Given the description of an element on the screen output the (x, y) to click on. 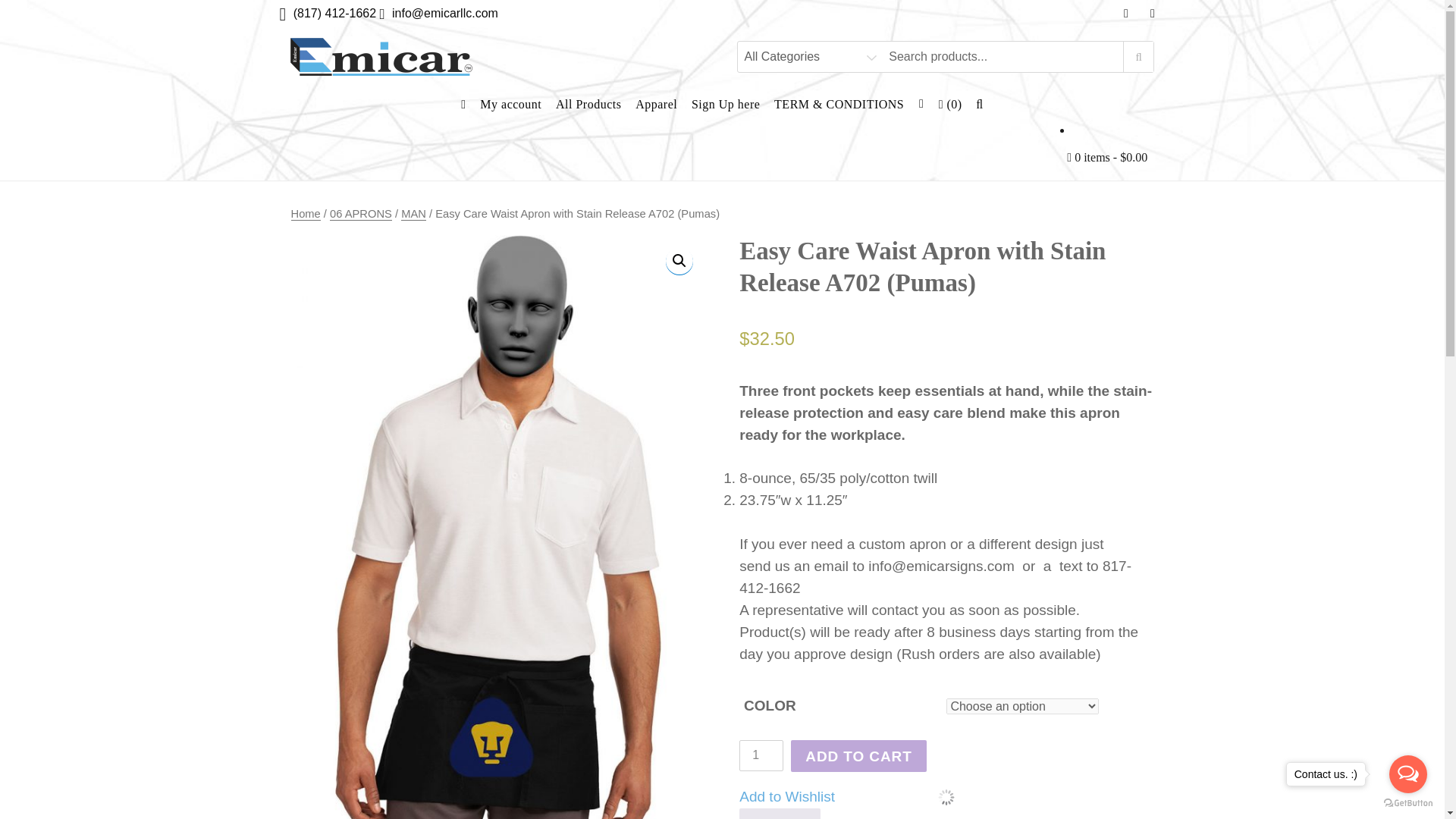
ADD TO CART (858, 756)
Compare (779, 813)
Instagram (1152, 13)
1 (761, 755)
My account (510, 103)
Apparel (656, 103)
MAN (413, 214)
All Products (588, 103)
Start shopping (1106, 156)
Add to Wishlist (786, 796)
Facebook (1126, 13)
Sign Up here (725, 103)
06 APRONS (360, 214)
Home (305, 214)
